Given the description of an element on the screen output the (x, y) to click on. 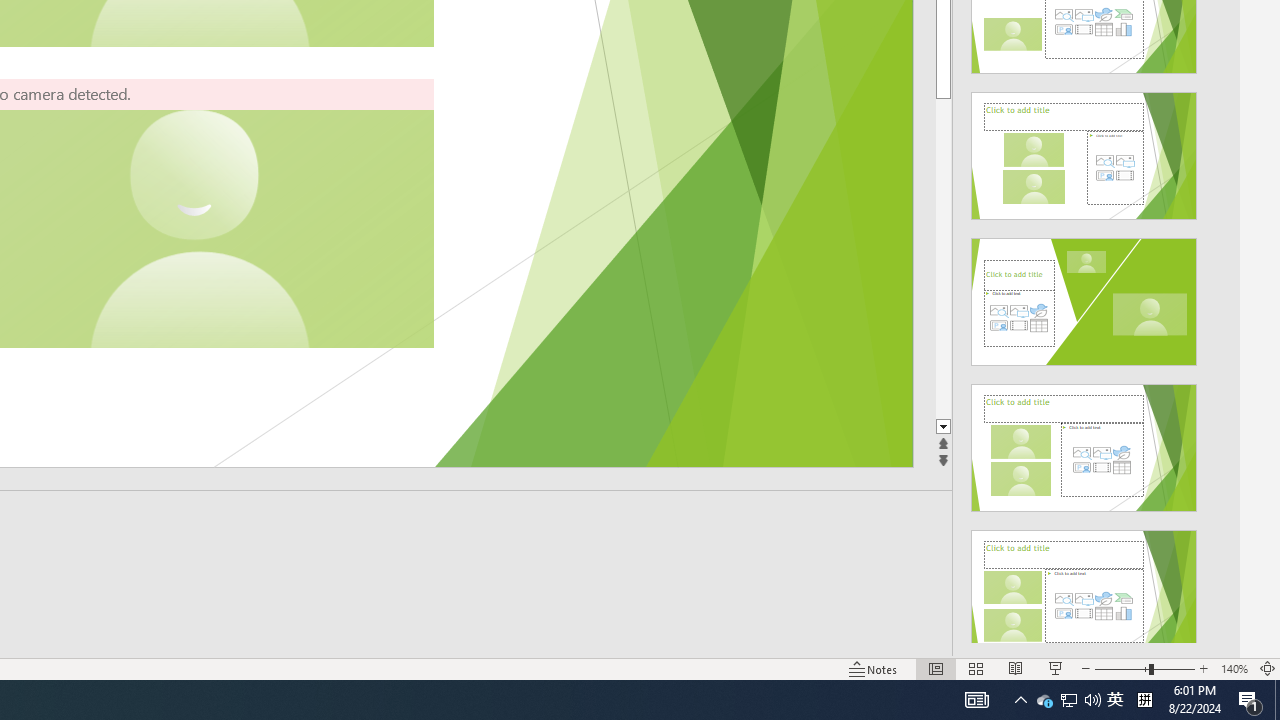
Page down (943, 258)
Design Idea (1083, 587)
Zoom 140% (1234, 668)
Line down (943, 427)
